Given the description of an element on the screen output the (x, y) to click on. 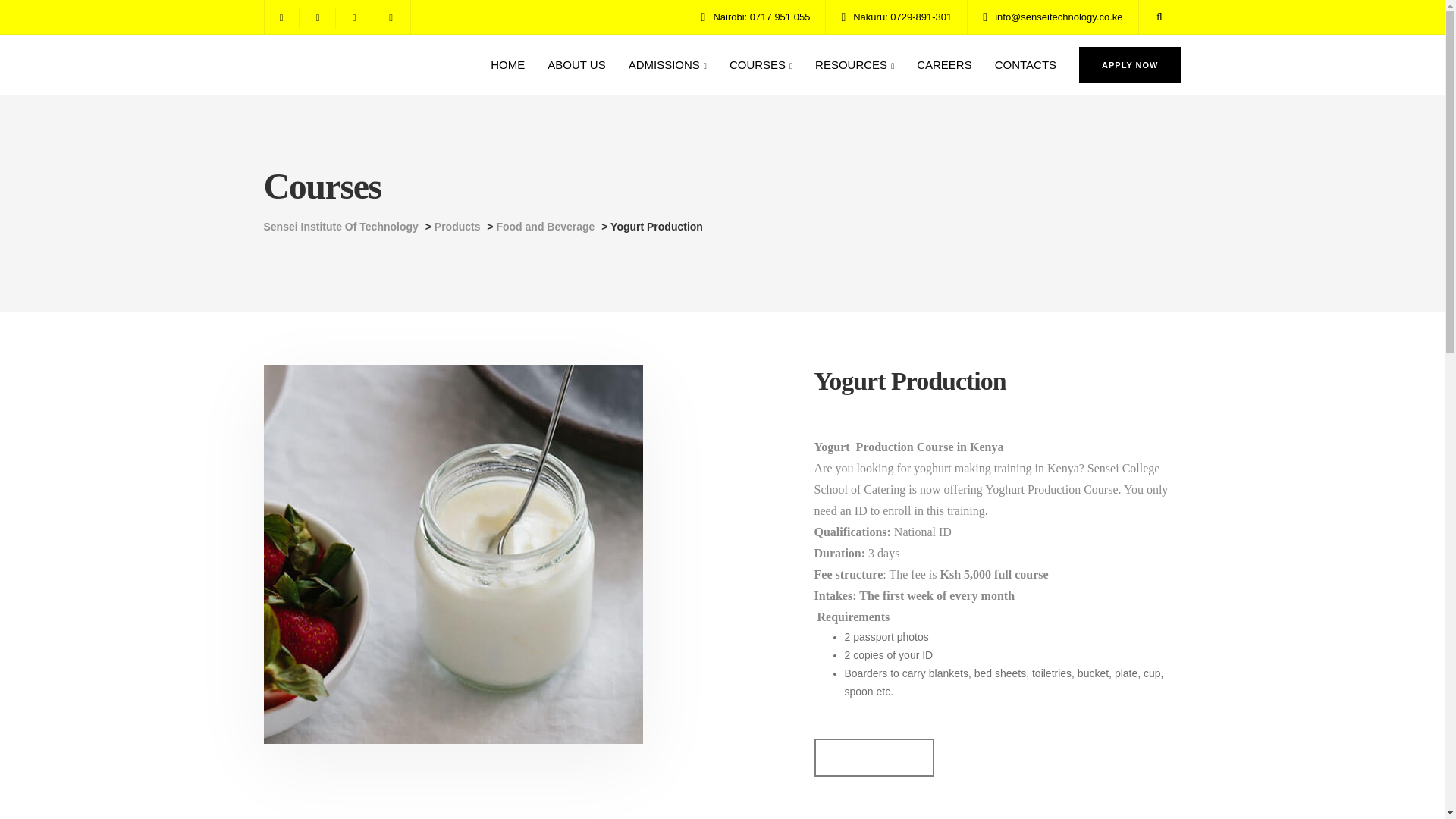
COURSES (760, 65)
APPLY NOW (1129, 64)
Go to Products. (456, 226)
Go to Sensei Institute Of Technology. (341, 226)
CAREERS (944, 65)
ADMISSIONS (667, 65)
Sensei Institute Of Technology (341, 226)
Go to the Food and Beverage Category archives. (545, 226)
CONTACTS (1025, 65)
